Given the description of an element on the screen output the (x, y) to click on. 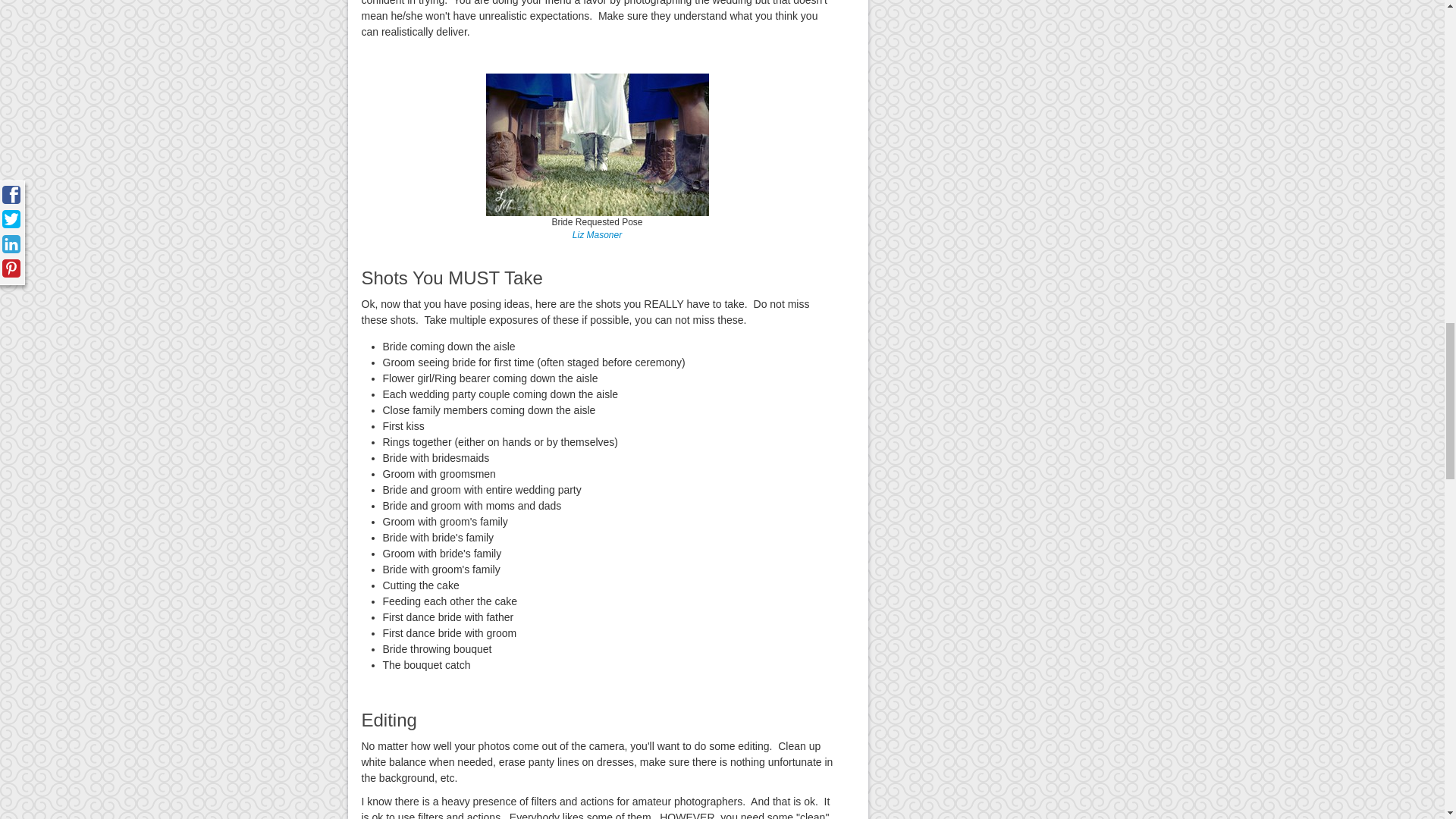
Bride Requested Pose (595, 144)
Liz Masoner (596, 235)
Liz Masoner (596, 235)
